Given the description of an element on the screen output the (x, y) to click on. 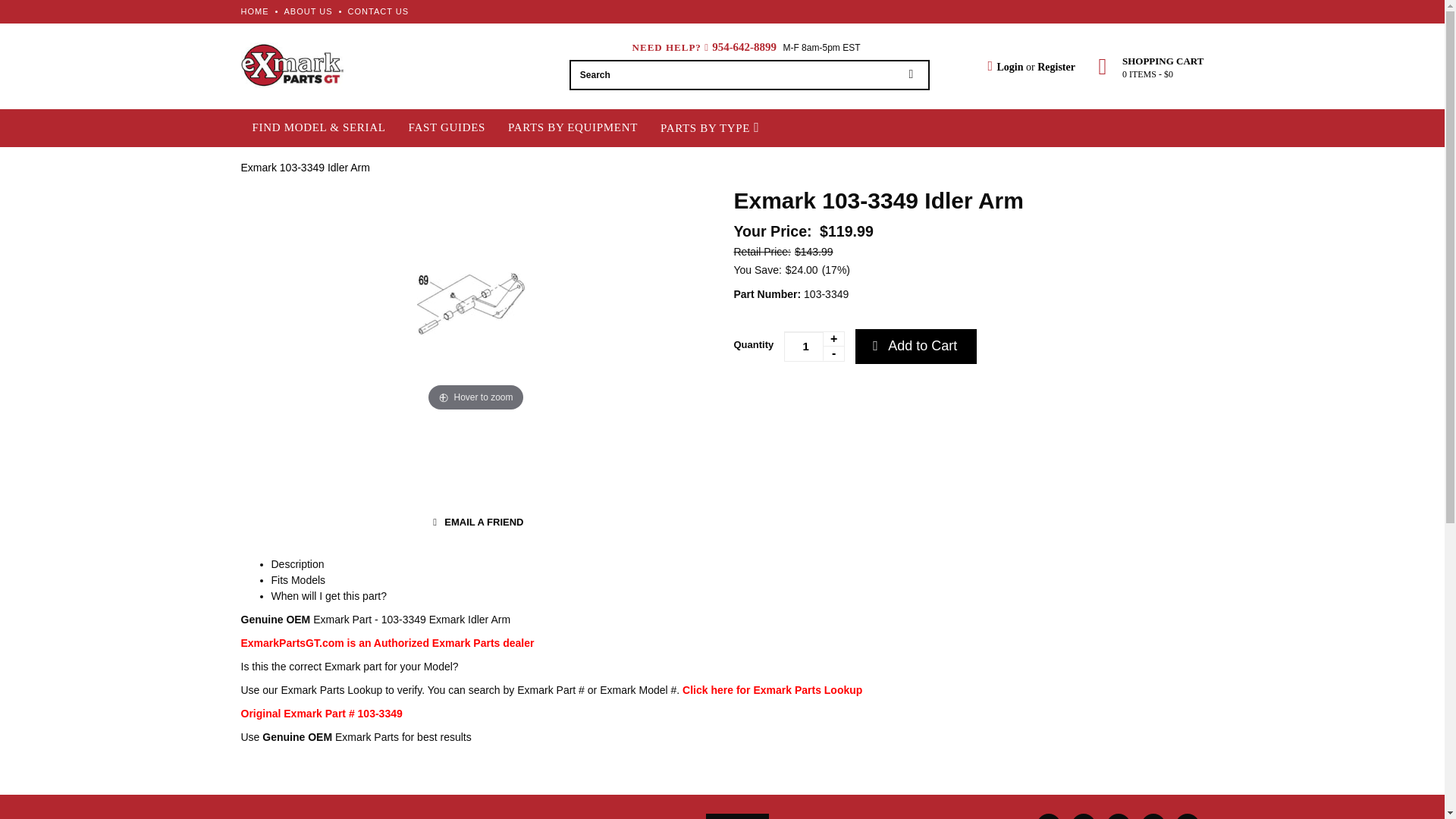
Like Us on Facebook (1048, 816)
 Exmark Parts Diagrams (771, 689)
Exmark 103-3349 Idler Arm (305, 166)
Login (1005, 67)
Register (1055, 67)
Subscribe to our Channel (1118, 816)
ABOUT US (307, 11)
Follow Us on Instagram (1186, 816)
CONTACT US (378, 11)
Follow Us on Twitter (1083, 816)
HOME (255, 11)
FAST GUIDES (446, 127)
PARTS BY EQUIPMENT (572, 127)
1 (814, 346)
EMAIL A FRIEND (475, 522)
